Given the description of an element on the screen output the (x, y) to click on. 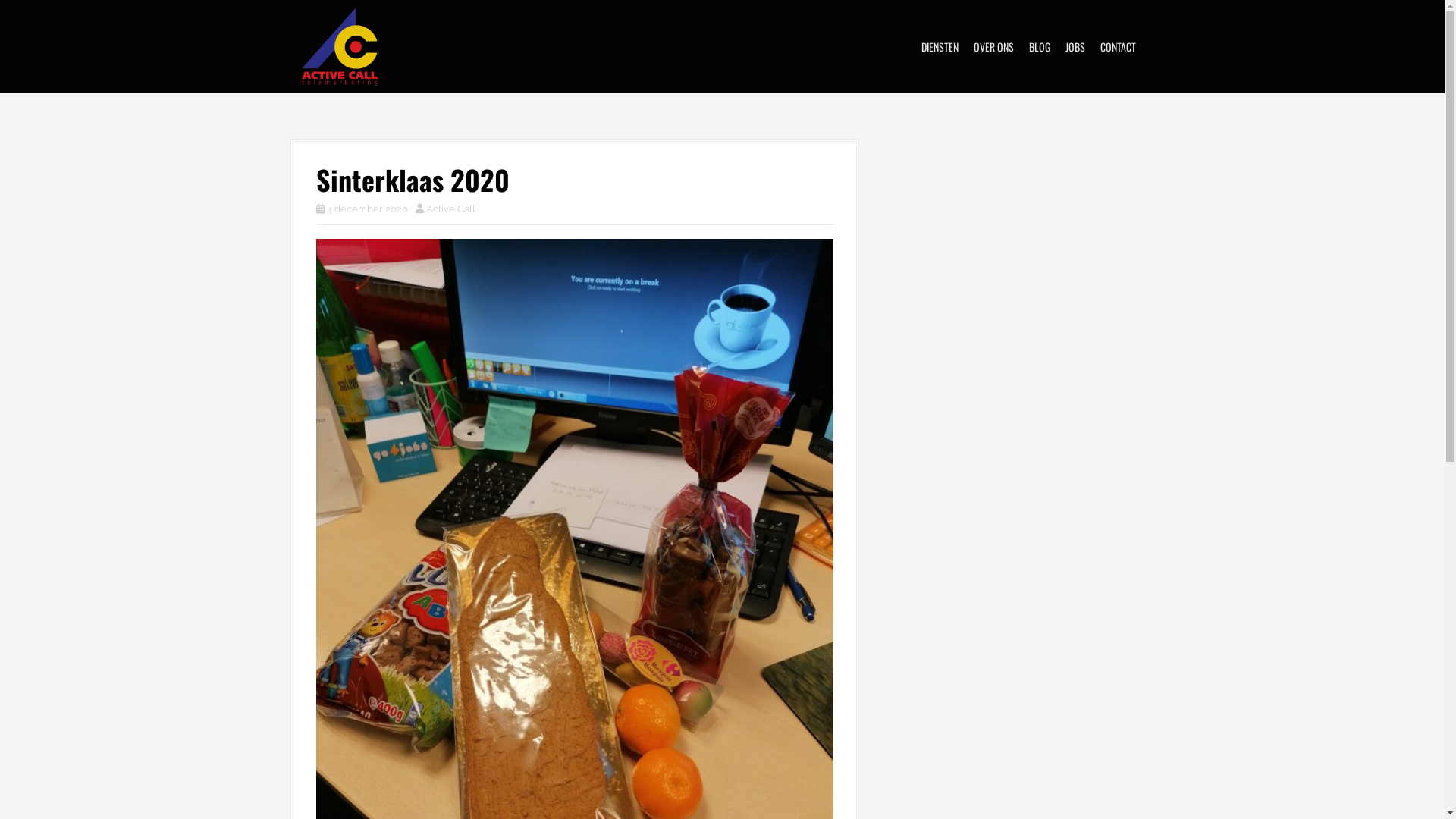
Active Call Element type: hover (339, 45)
Active Call Element type: text (450, 208)
4 december 2020 Element type: text (366, 208)
CONTACT Element type: text (1117, 46)
JOBS Element type: text (1074, 46)
OVER ONS Element type: text (993, 46)
DIENSTEN Element type: text (938, 46)
BLOG Element type: text (1038, 46)
